Given the description of an element on the screen output the (x, y) to click on. 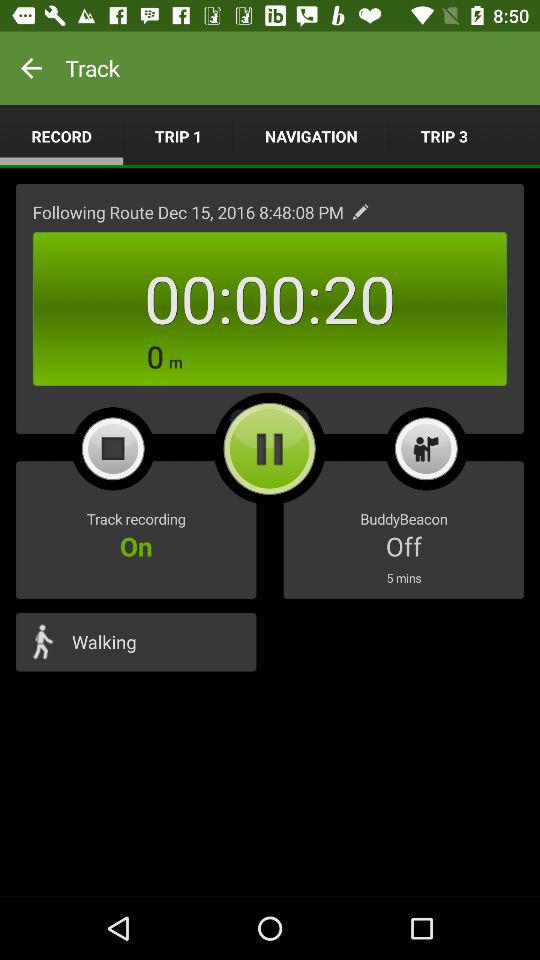
turn off the item to the right of trip 1 item (311, 136)
